Given the description of an element on the screen output the (x, y) to click on. 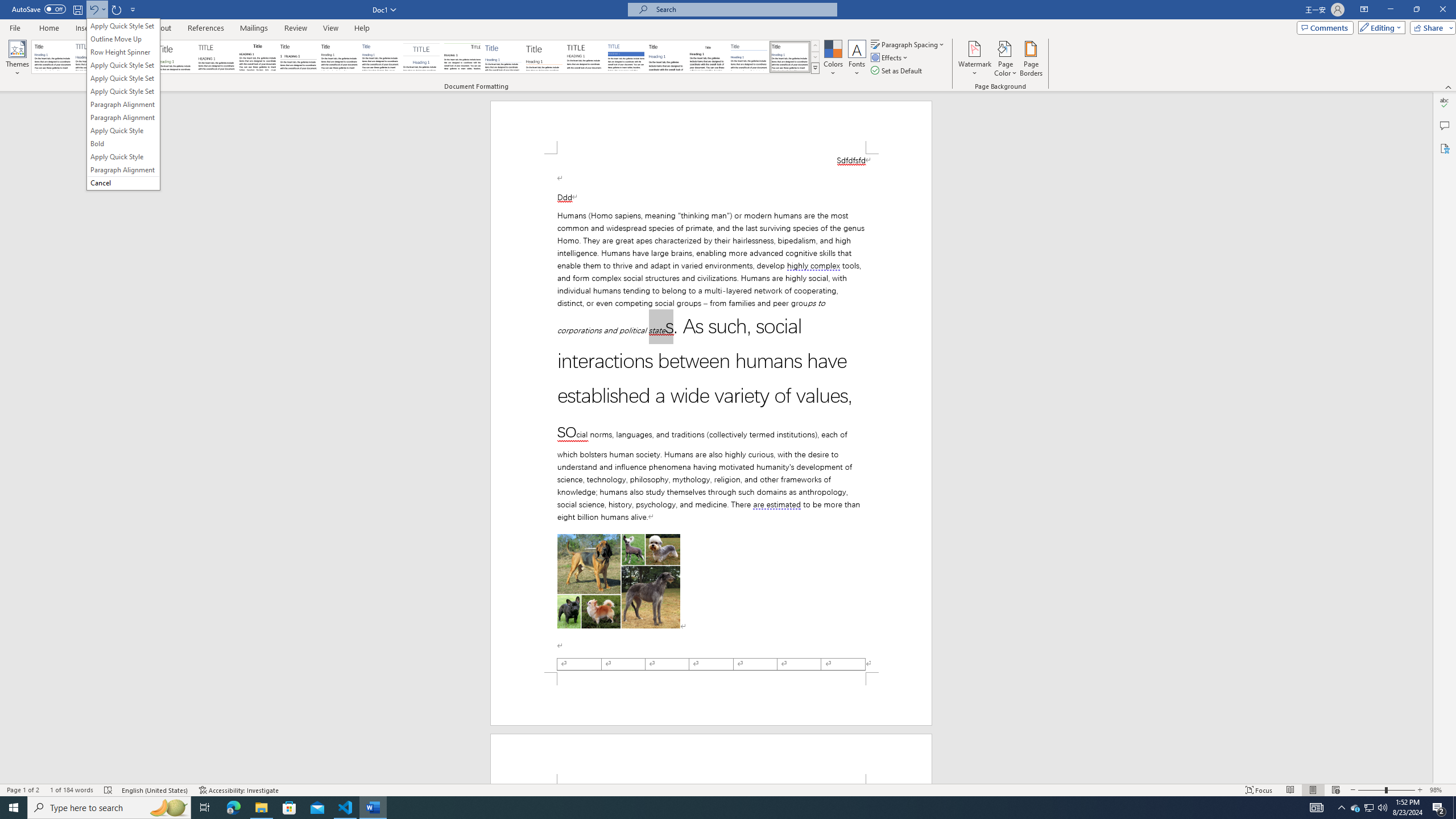
Word 2010 (749, 56)
Black & White (Numbered) (298, 56)
Word 2003 (707, 56)
&Undo Apply Quick Style Set (122, 104)
Watermark (974, 58)
Lines (Stylish) (544, 56)
Casual (379, 56)
Colors (832, 58)
